Given the description of an element on the screen output the (x, y) to click on. 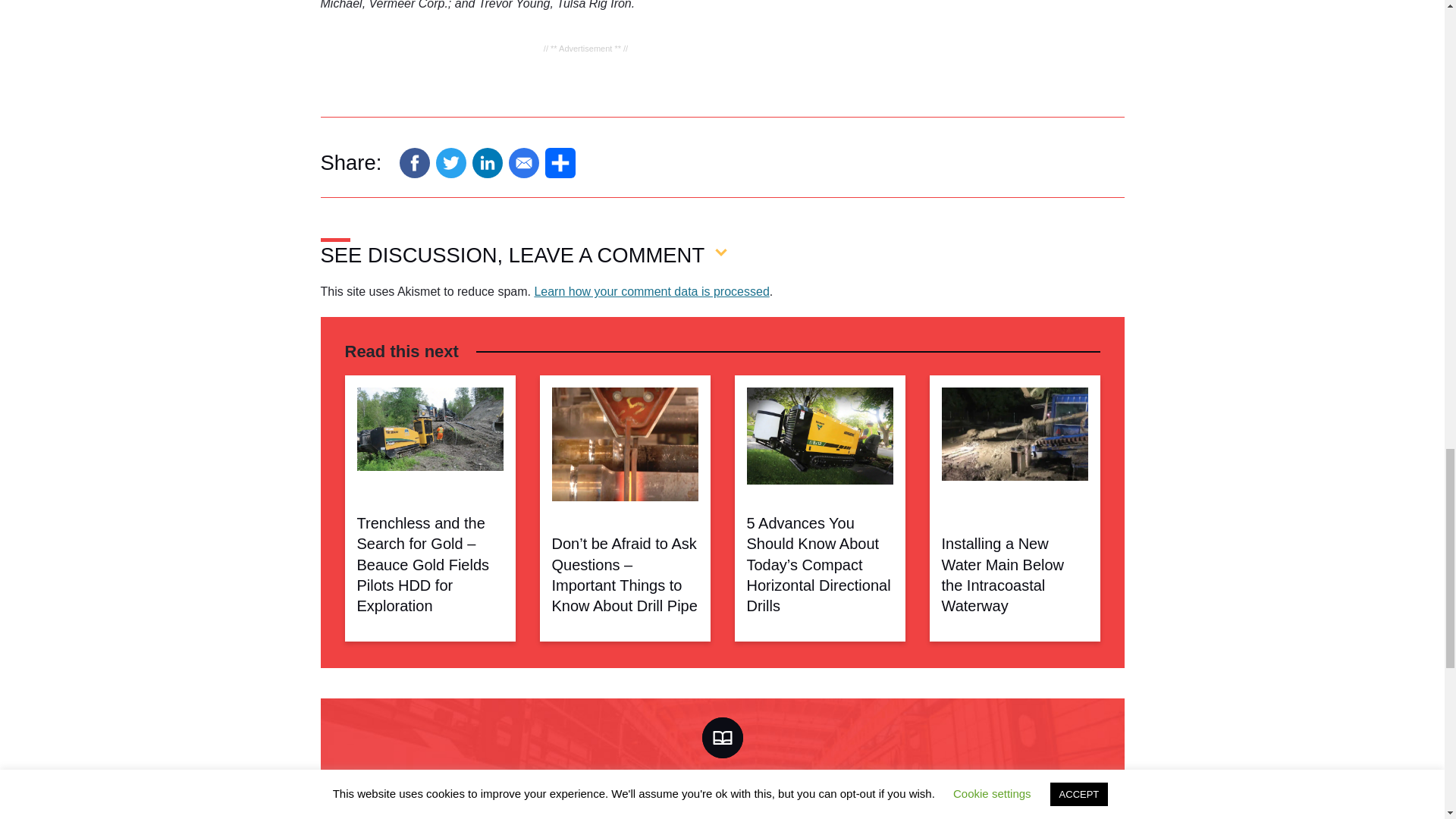
Installing a New Water Main Below the Intracoastal Waterway (1014, 444)
Facebook (414, 163)
Twitter (450, 163)
LinkedIn (486, 163)
Email (523, 163)
